Given the description of an element on the screen output the (x, y) to click on. 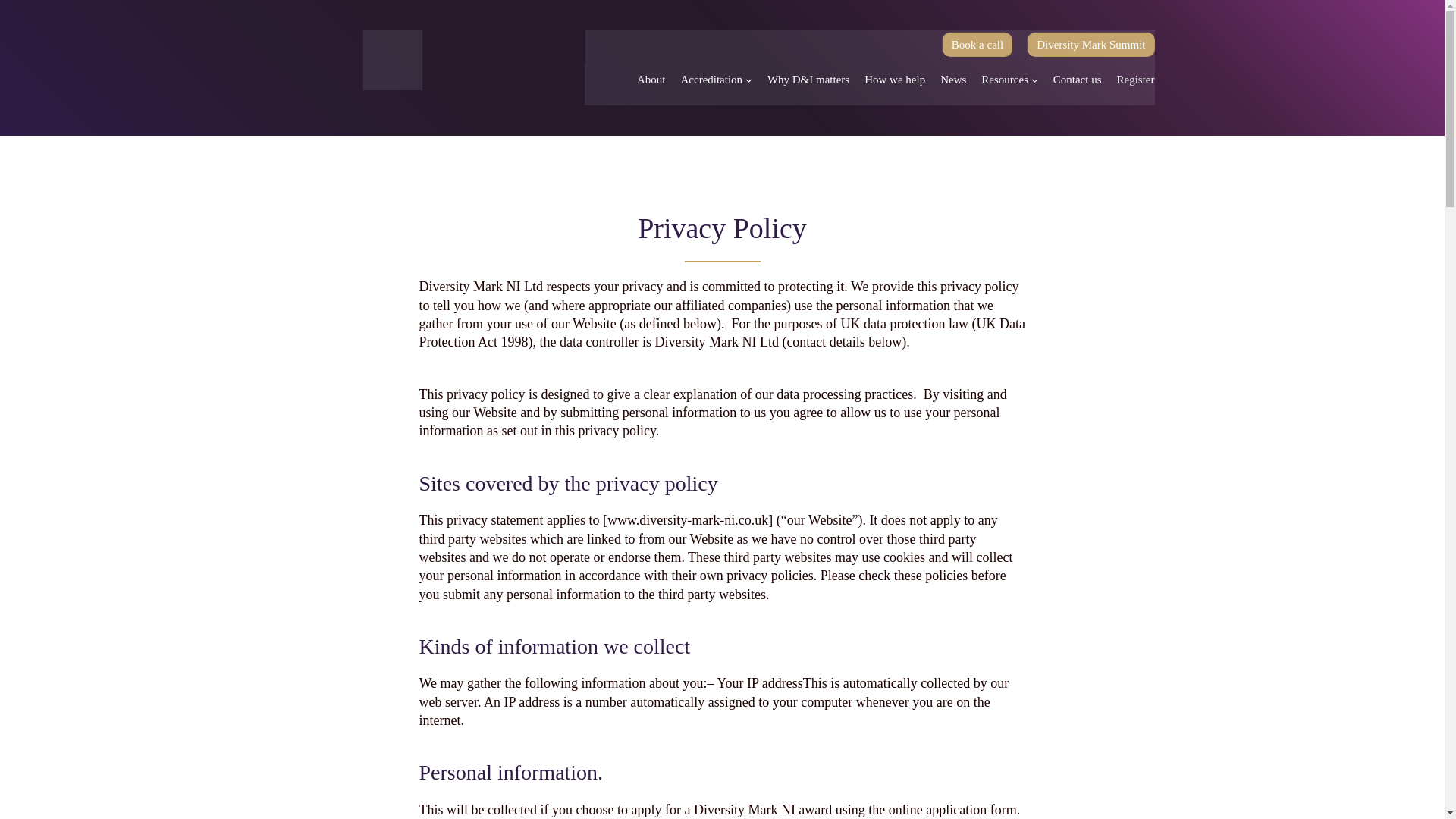
Accreditation (710, 79)
Register (1135, 79)
Contact us (1077, 79)
News (953, 79)
Resources (1004, 79)
Book a call (976, 44)
How we help (894, 79)
Diversity Mark Summit (1090, 44)
About (651, 79)
